Given the description of an element on the screen output the (x, y) to click on. 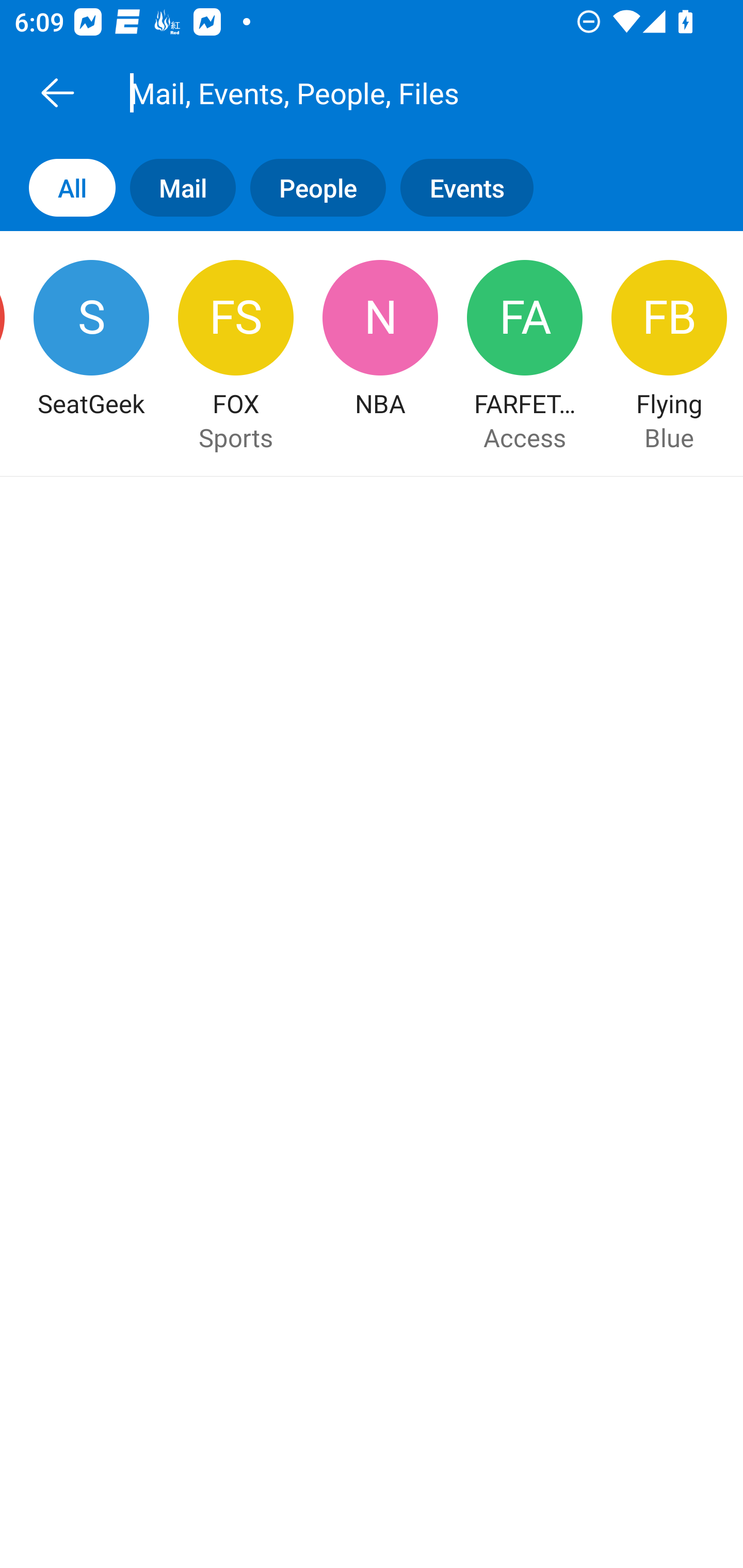
Back (57, 92)
Mail, Events, People, Files (394, 92)
Mail (175, 187)
People (310, 187)
Events (473, 187)
